Given the description of an element on the screen output the (x, y) to click on. 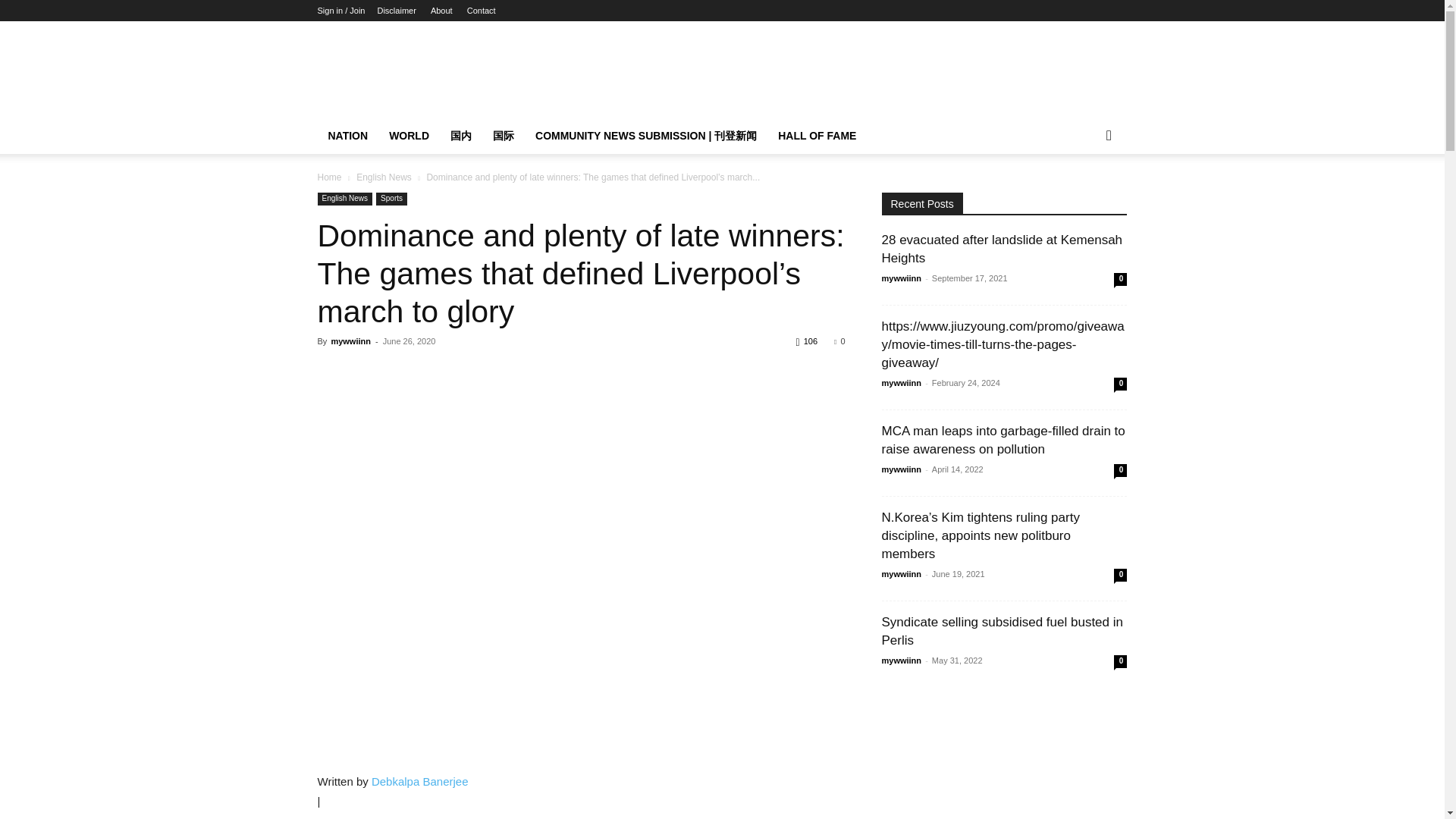
Disclaimer (395, 10)
About (441, 10)
Contact (481, 10)
WORLD (408, 135)
NATION (347, 135)
